Given the description of an element on the screen output the (x, y) to click on. 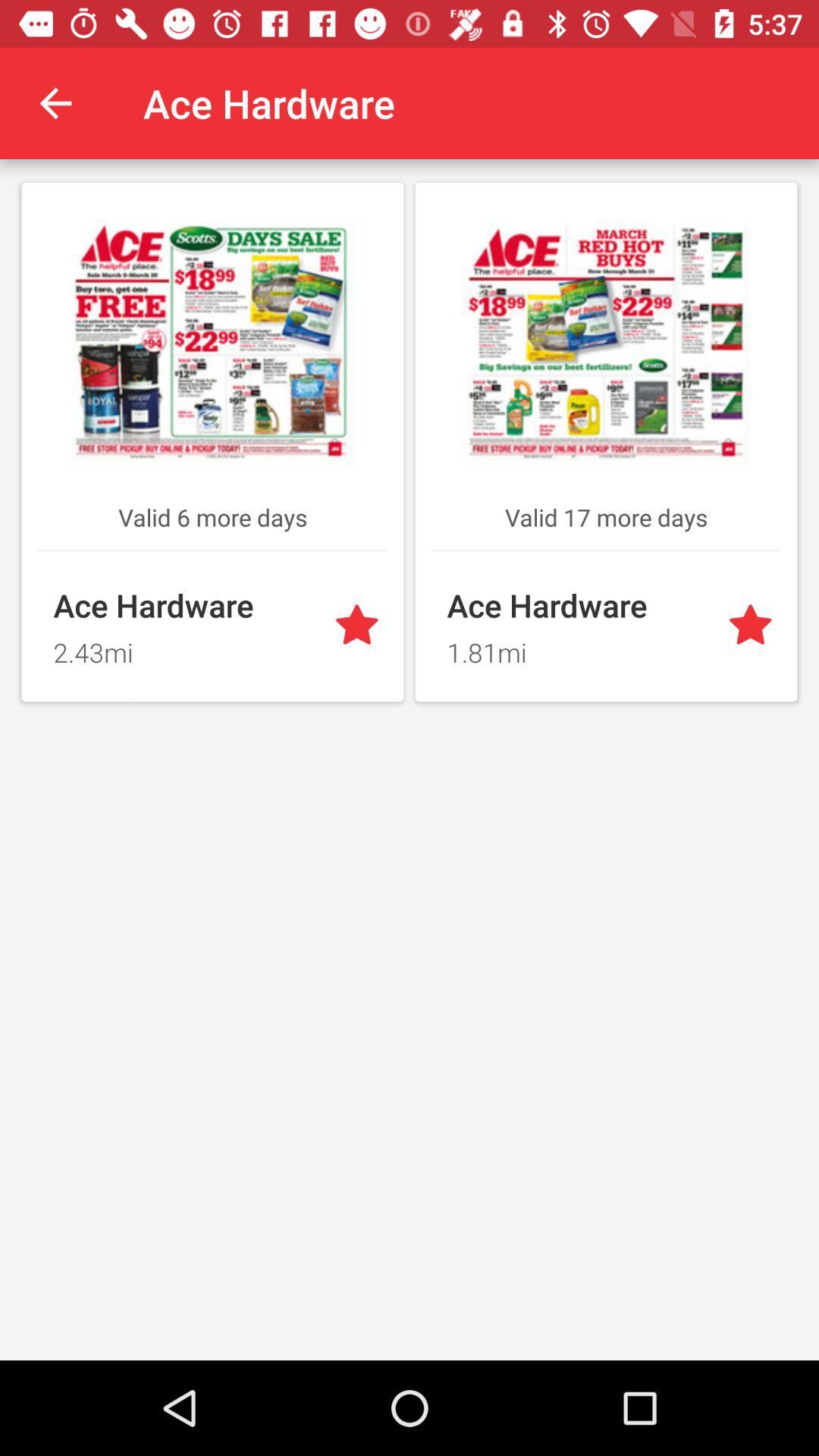
like/save (753, 626)
